Given the description of an element on the screen output the (x, y) to click on. 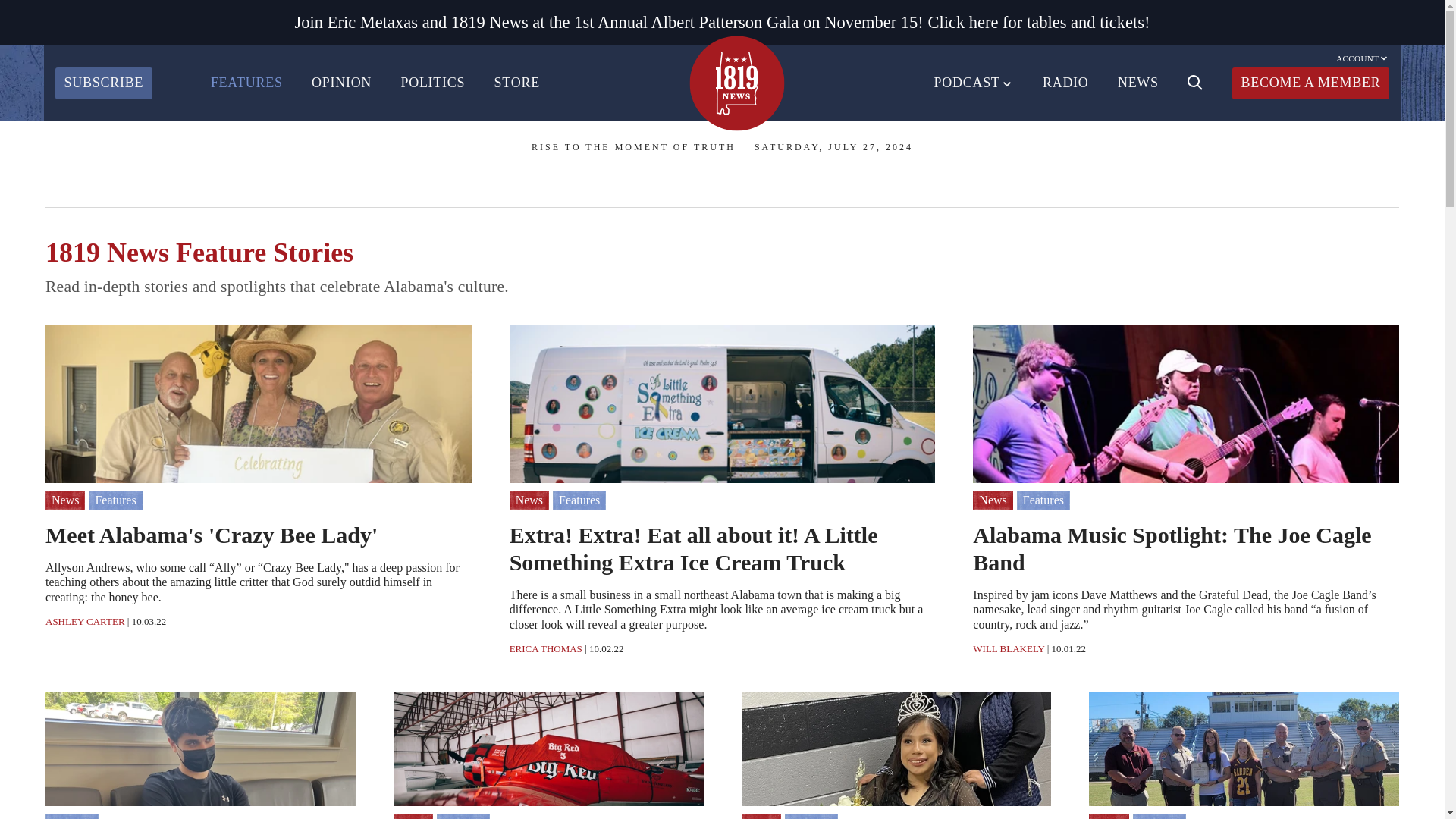
BECOME A MEMBER (1310, 83)
SUBSCRIBE (103, 83)
FEATURES (246, 83)
POLITICS (432, 83)
OPINION (341, 83)
STORE (517, 83)
NEWS (1138, 83)
News (64, 500)
Features (114, 500)
HOMEPAGE (736, 83)
RADIO (1065, 83)
PODCAST (973, 83)
